Given the description of an element on the screen output the (x, y) to click on. 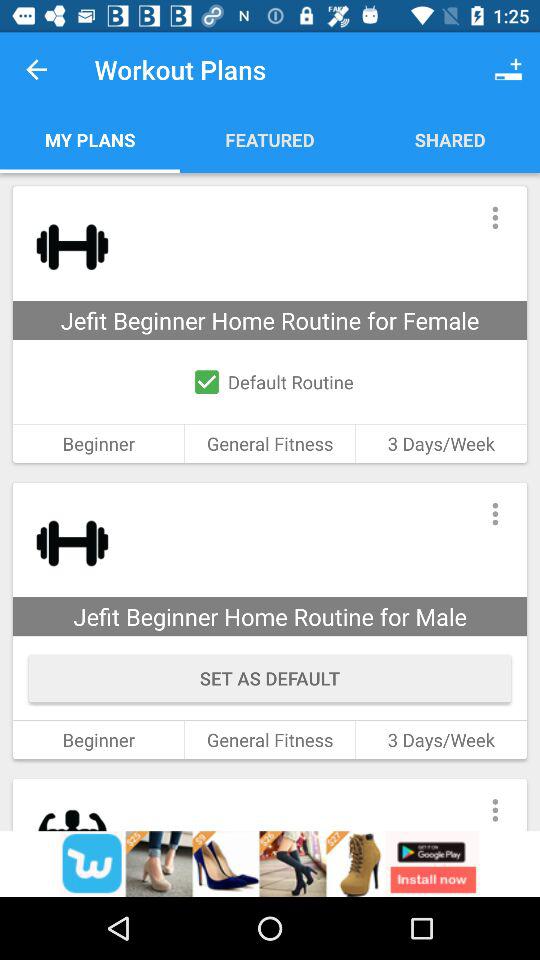
switch on the customize (494, 513)
